Given the description of an element on the screen output the (x, y) to click on. 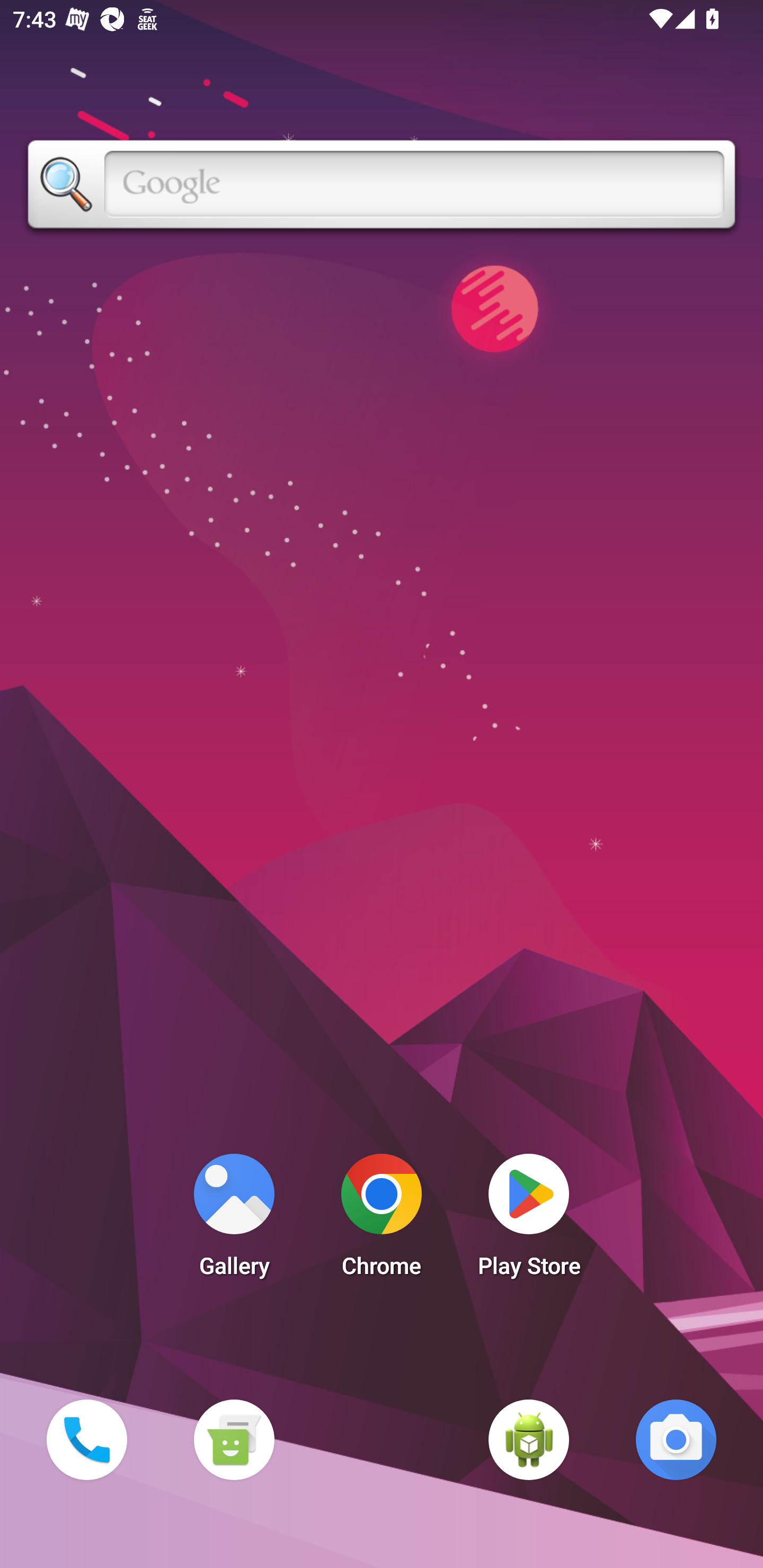
Gallery (233, 1220)
Chrome (381, 1220)
Play Store (528, 1220)
Phone (86, 1439)
Messaging (233, 1439)
WebView Browser Tester (528, 1439)
Camera (676, 1439)
